Given the description of an element on the screen output the (x, y) to click on. 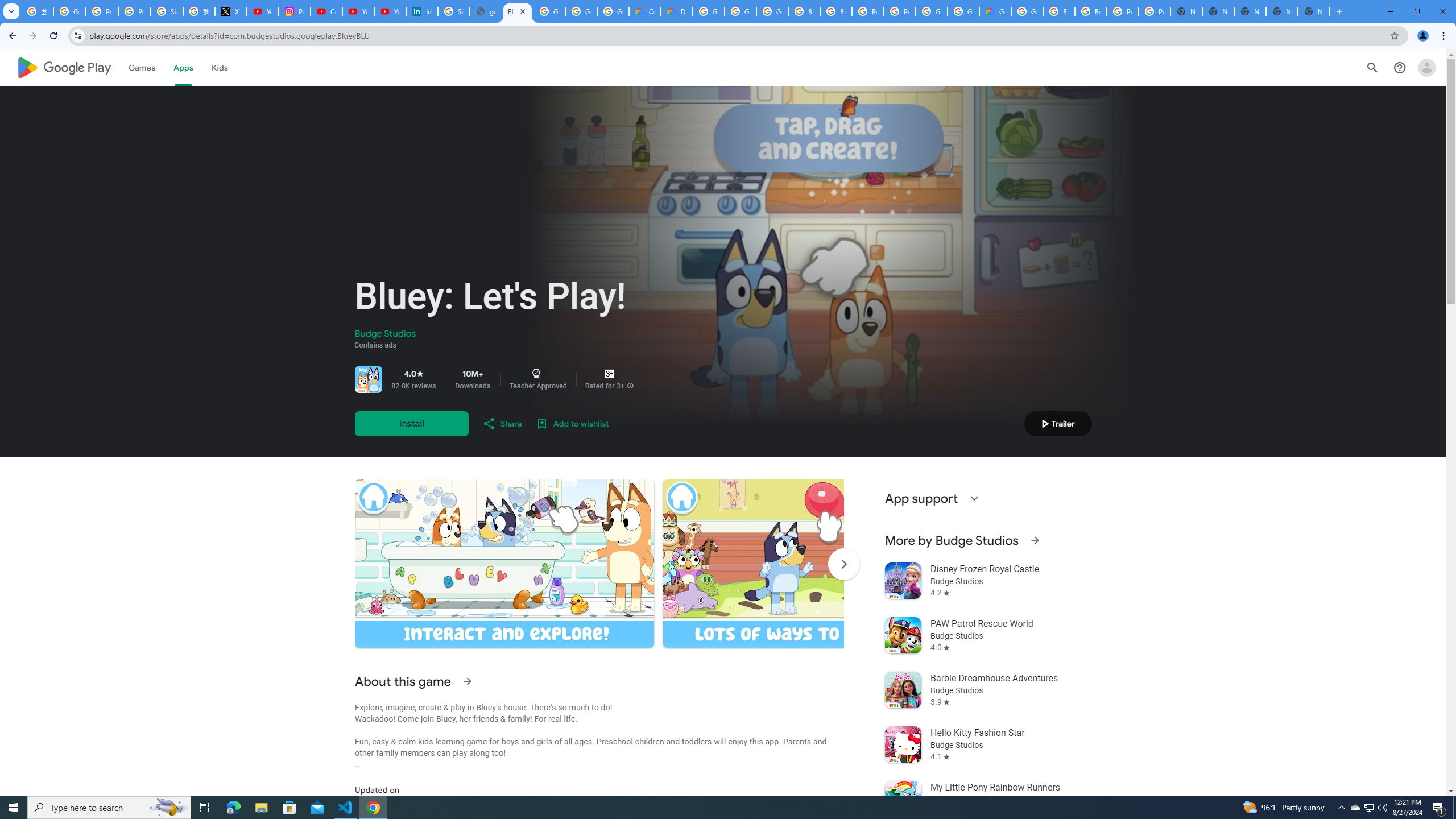
Bluey: Let's Play! - Apps on Google Play (517, 11)
